Given the description of an element on the screen output the (x, y) to click on. 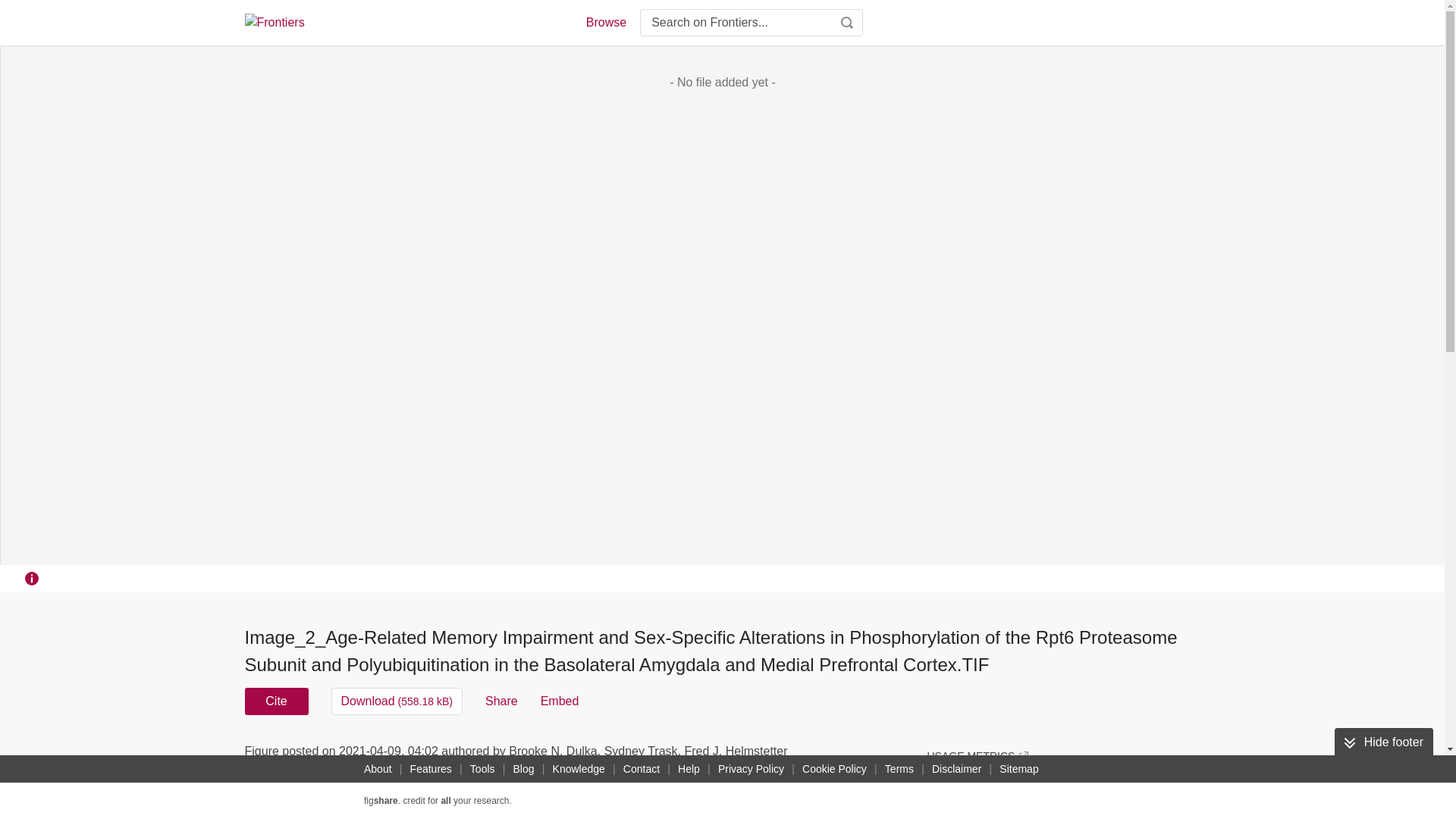
Cite (275, 700)
Features (431, 769)
About (377, 769)
Tools (482, 769)
USAGE METRICS (976, 755)
Embed (559, 700)
Share (501, 700)
Browse (605, 22)
Blog (523, 769)
Hide footer (1383, 742)
